Given the description of an element on the screen output the (x, y) to click on. 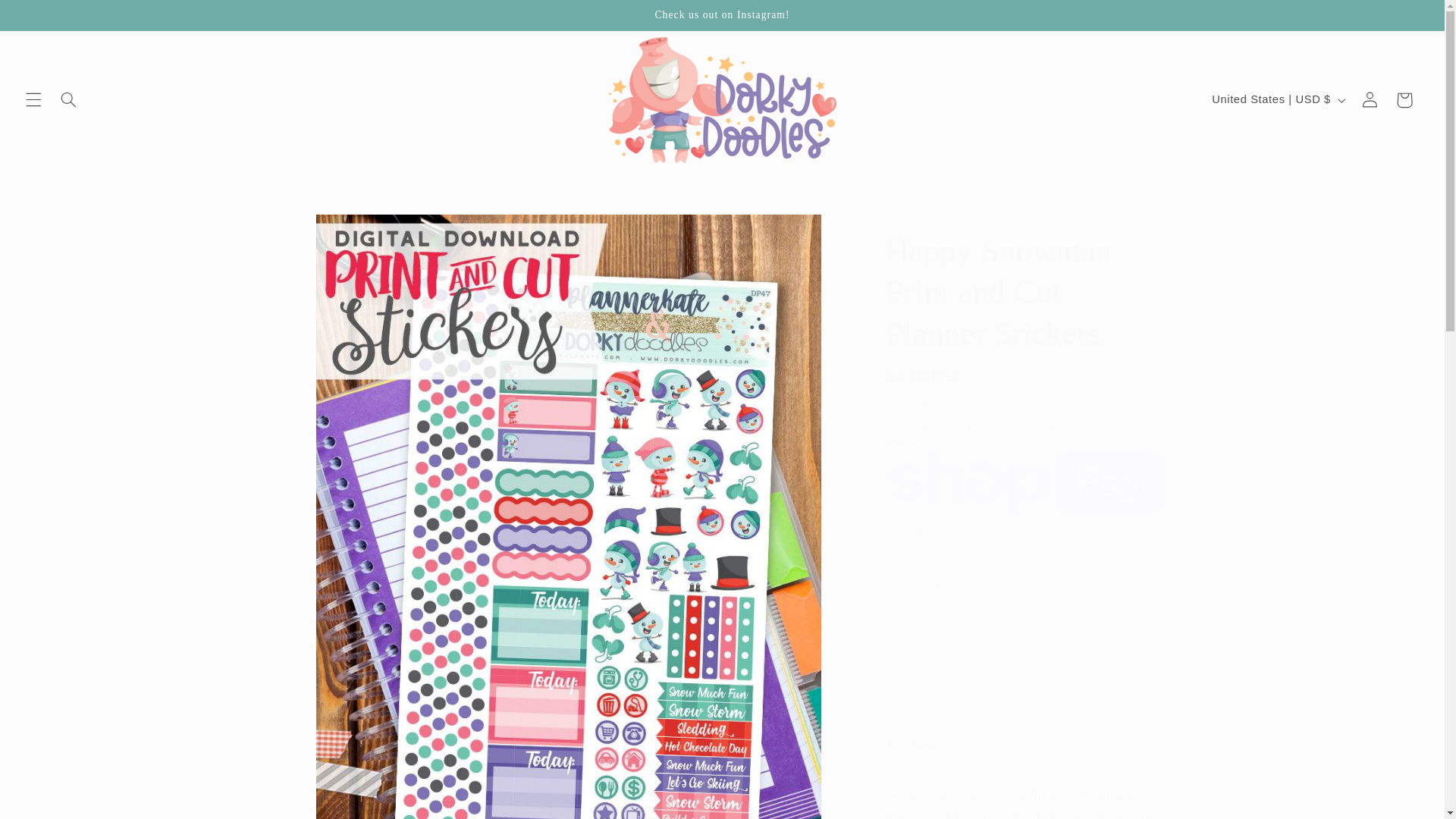
Skip to content (48, 18)
1 (939, 587)
